Given the description of an element on the screen output the (x, y) to click on. 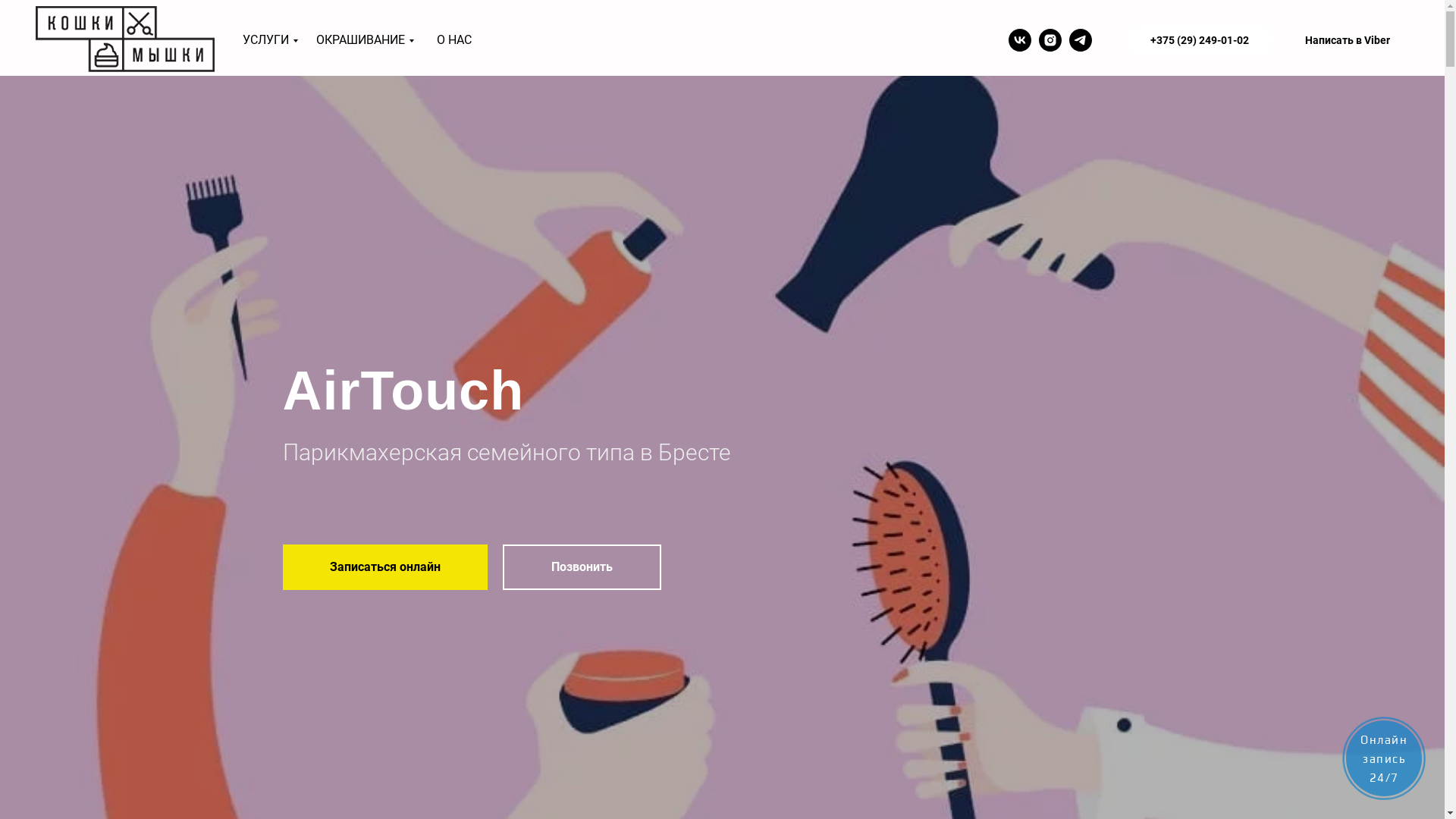
+375 (29) 249-01-02 Element type: text (1199, 40)
